Given the description of an element on the screen output the (x, y) to click on. 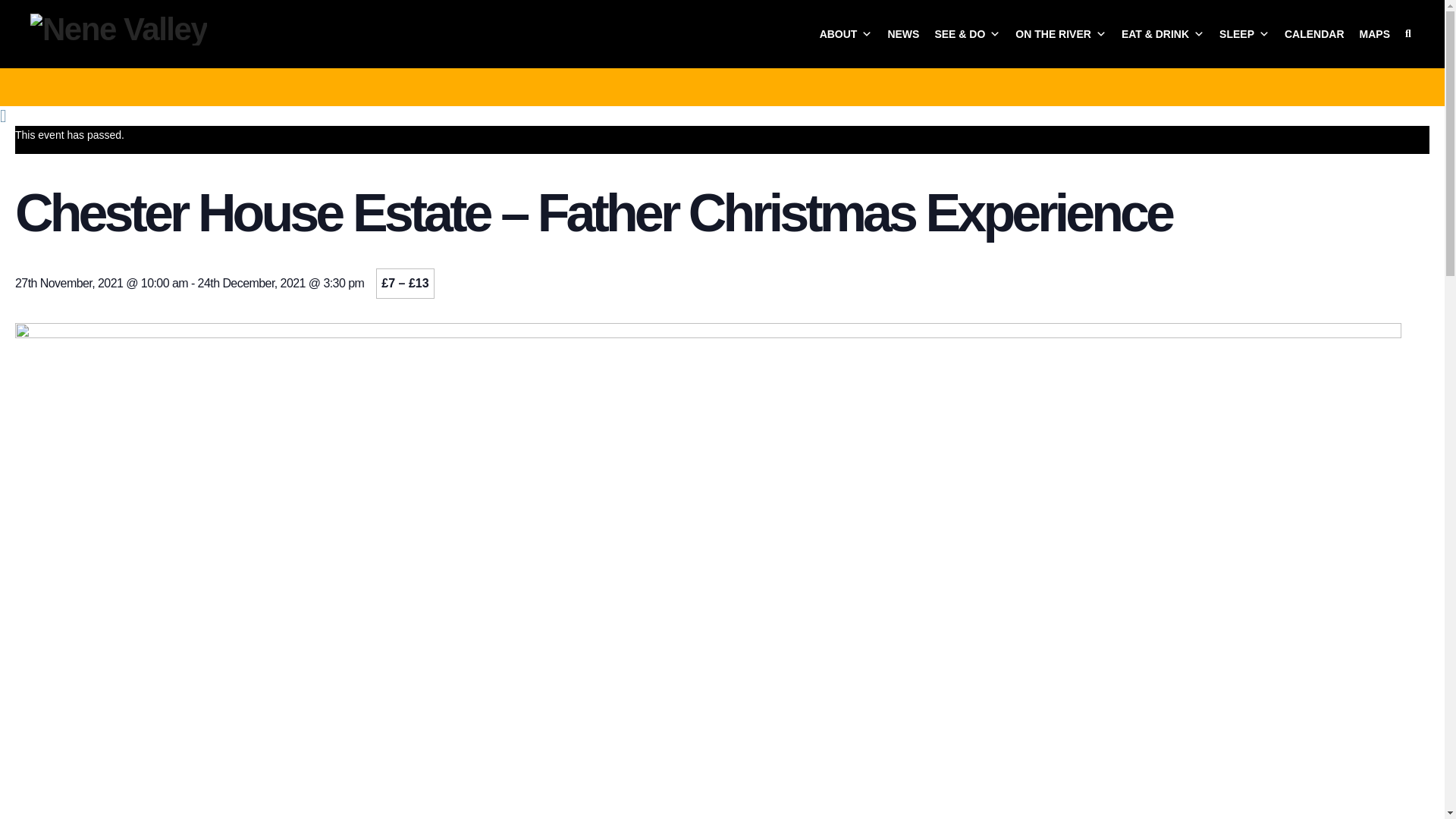
ABOUT (846, 33)
